Given the description of an element on the screen output the (x, y) to click on. 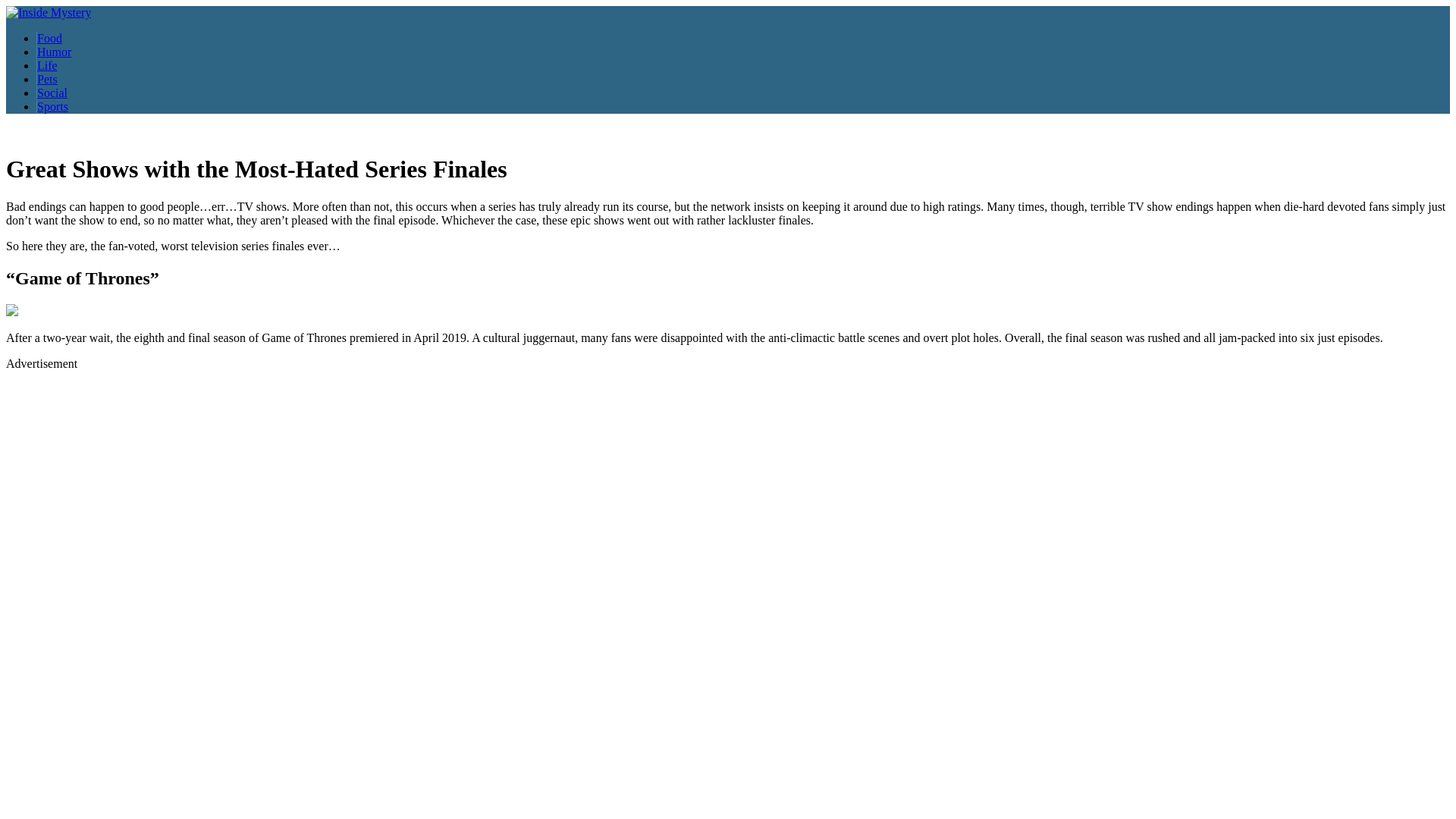
Humor (53, 51)
Life (47, 65)
Social (51, 92)
Food (49, 38)
Sports (52, 106)
Pets (47, 78)
